Given the description of an element on the screen output the (x, y) to click on. 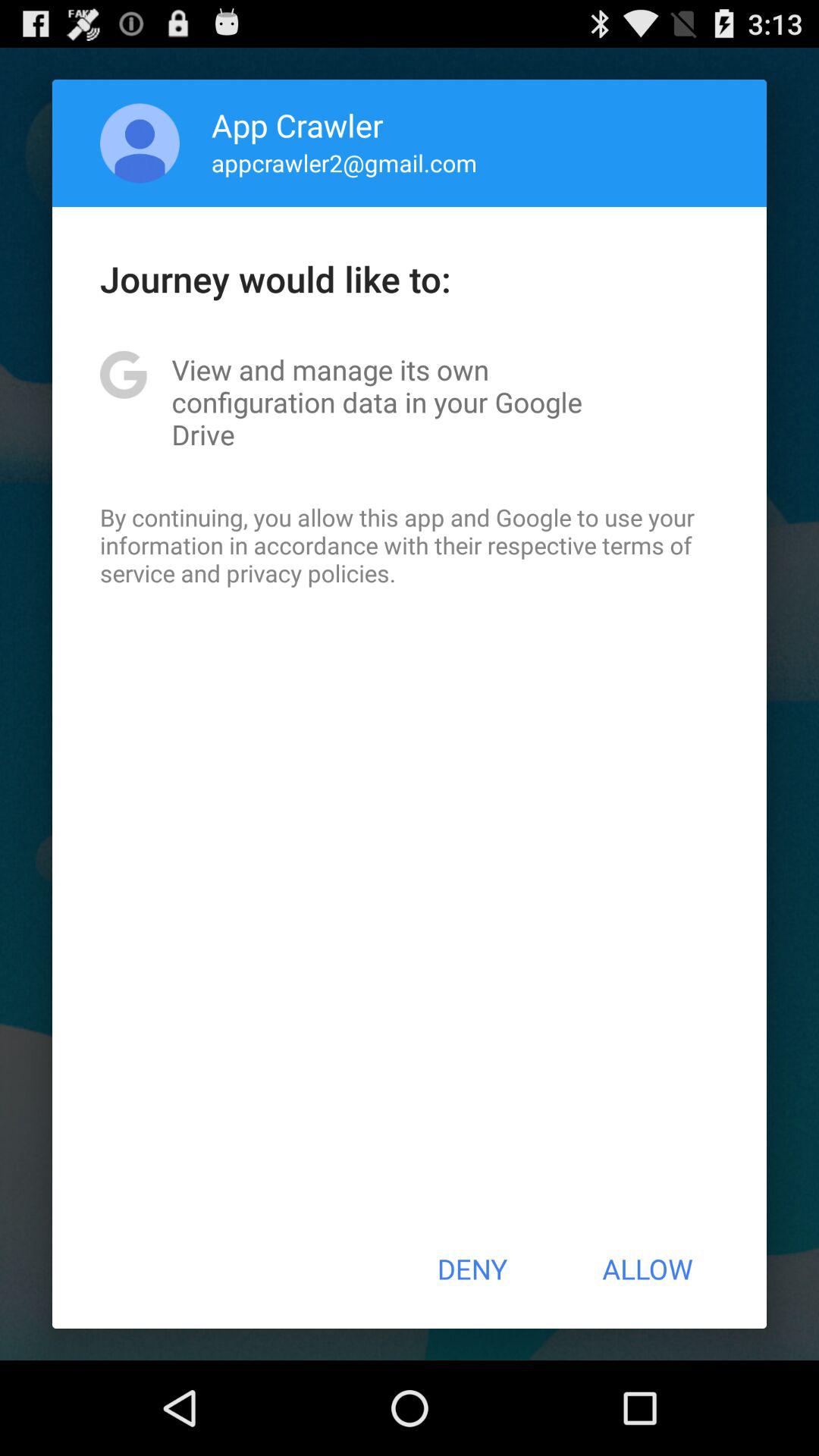
press the app above the appcrawler2@gmail.com icon (297, 124)
